Given the description of an element on the screen output the (x, y) to click on. 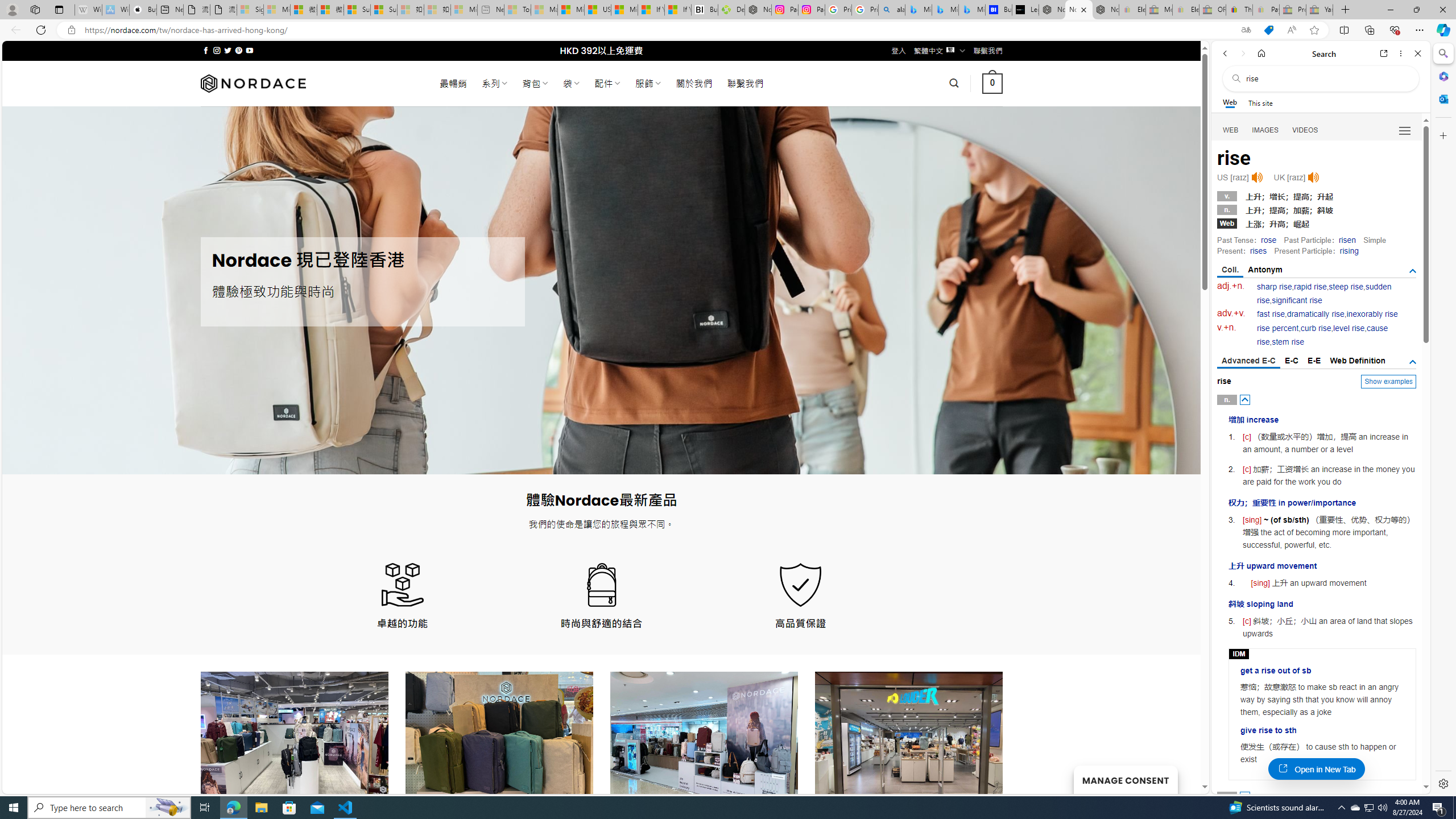
Search Filter, IMAGES (1265, 129)
rise percent (1277, 328)
WEB (1231, 130)
Microsoft Services Agreement - Sleeping (277, 9)
 0  (992, 83)
stem rise (1287, 341)
